Given the description of an element on the screen output the (x, y) to click on. 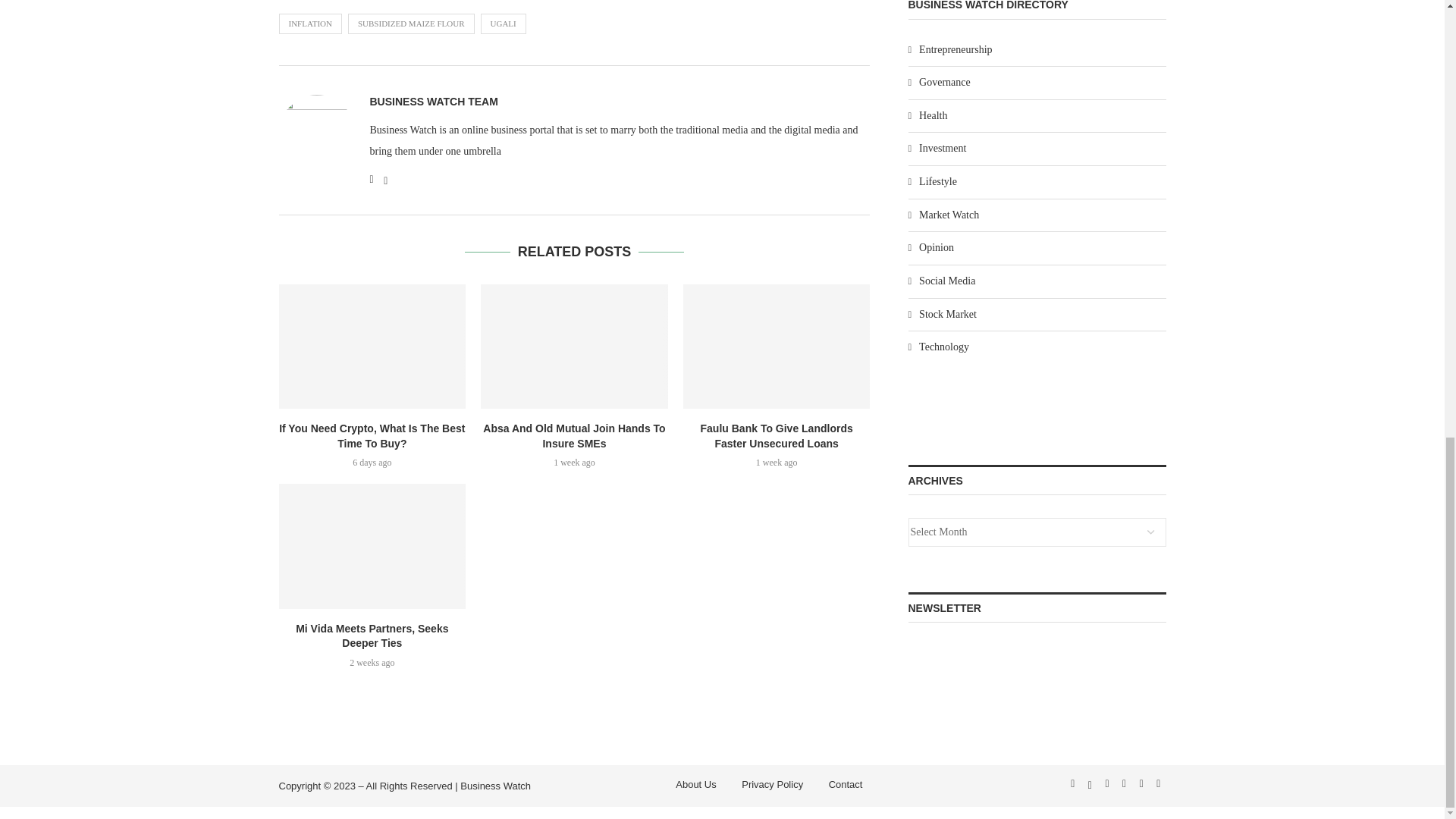
Absa And Old Mutual Join Hands To Insure SMEs (574, 346)
If You Need Crypto, What Is The Best Time To Buy? (372, 346)
Mi Vida Meets Partners, Seeks Deeper Ties (372, 546)
Faulu Bank To Give Landlords Faster Unsecured Loans (776, 346)
Author Business Watch Team (433, 101)
